Given the description of an element on the screen output the (x, y) to click on. 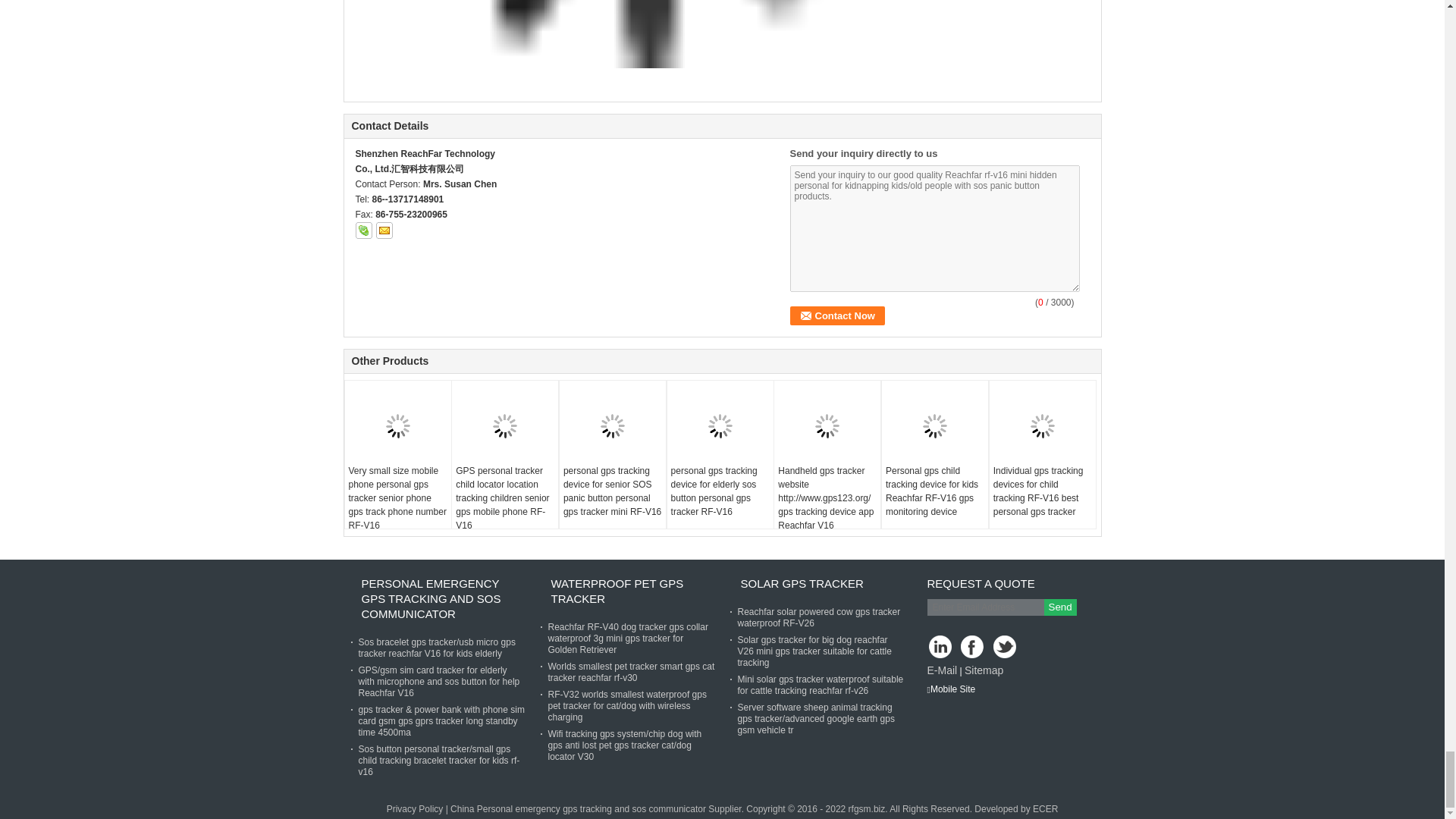
Contact Now (837, 315)
Contact Now (837, 315)
